Given the description of an element on the screen output the (x, y) to click on. 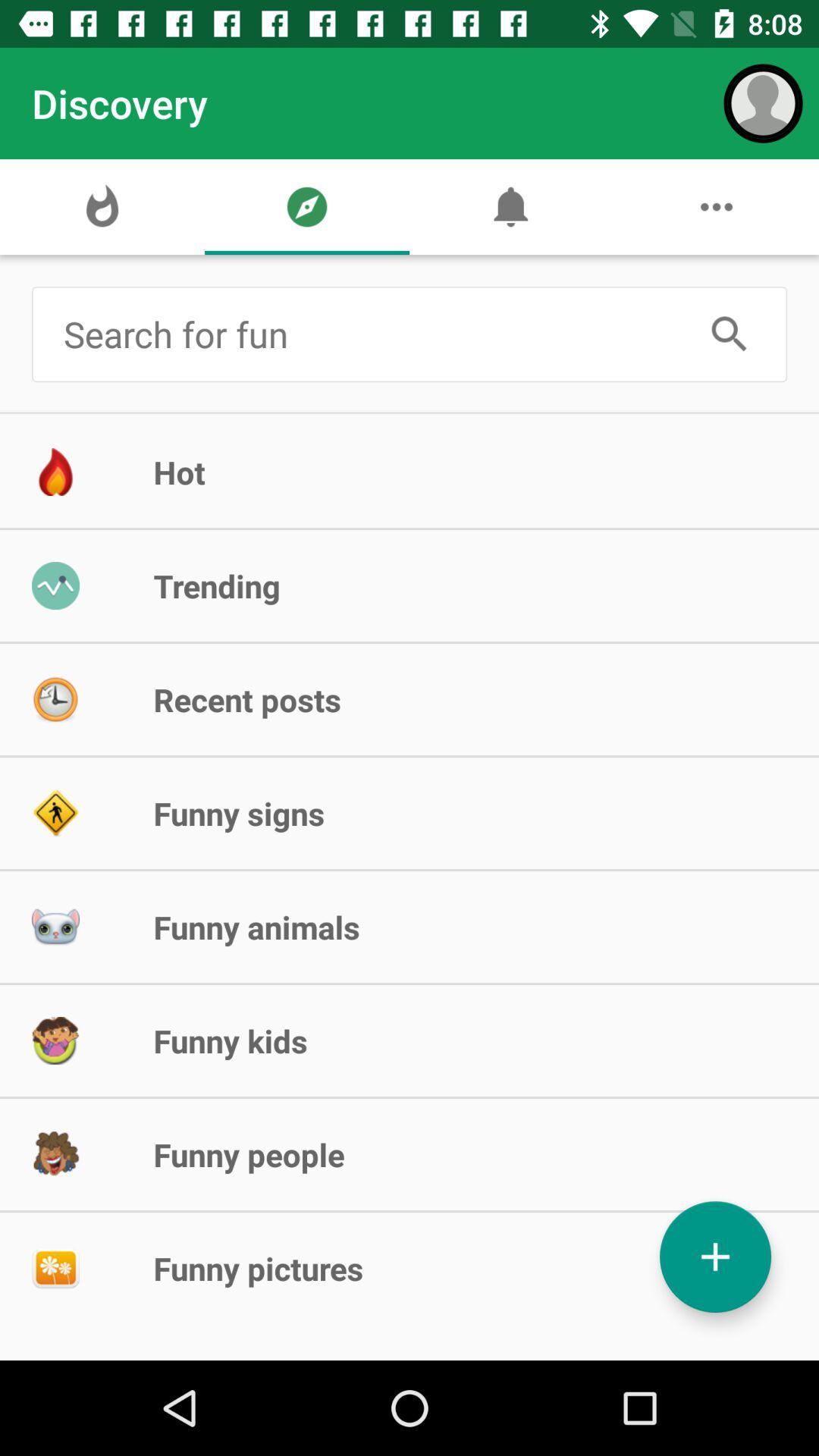
add a page (715, 1256)
